Given the description of an element on the screen output the (x, y) to click on. 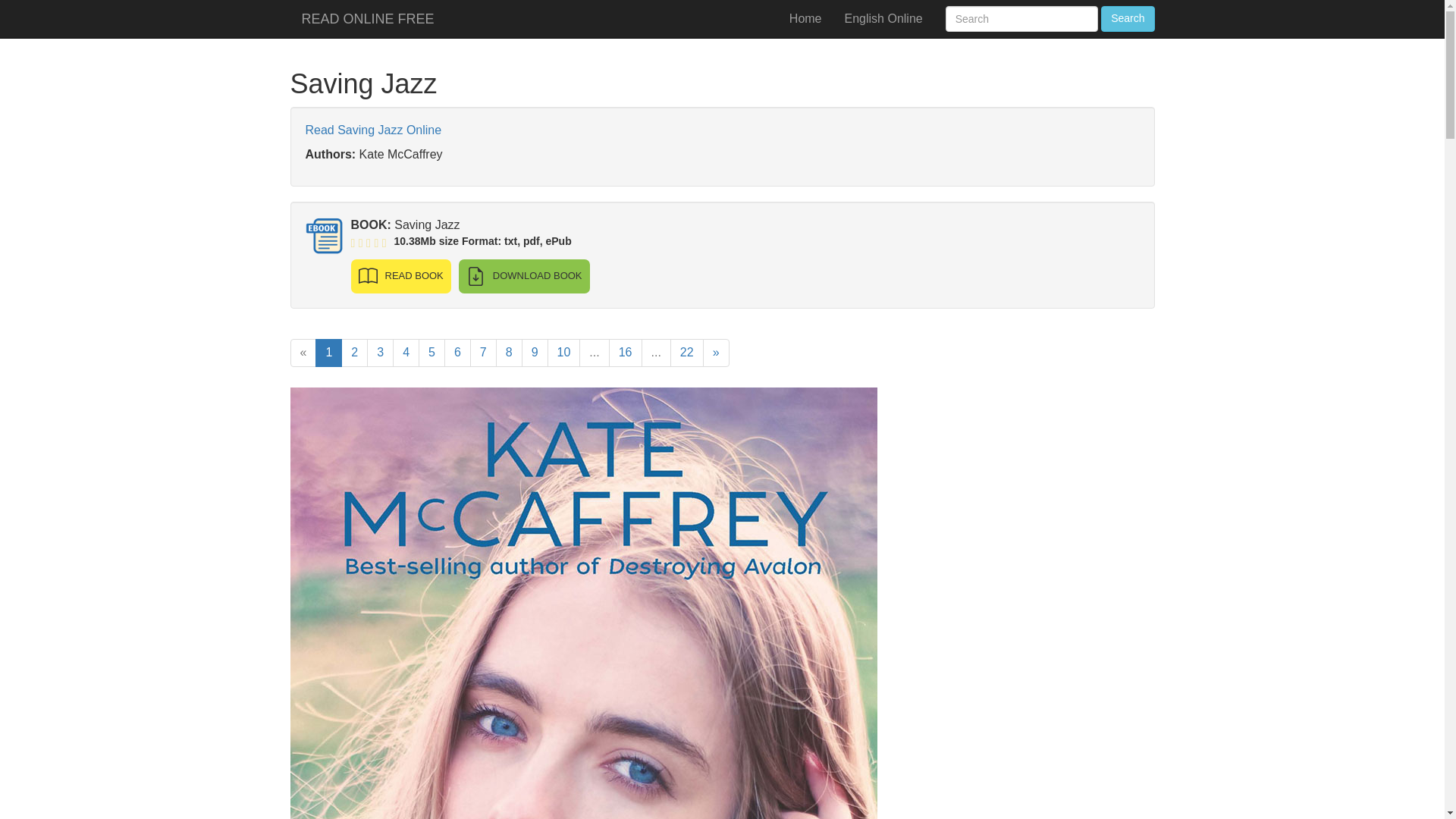
Read Saving Jazz Online (372, 129)
READ ONLINE FREE (367, 18)
1 (328, 352)
16 (625, 352)
22 (686, 352)
7 (483, 352)
English Online (883, 18)
READ BOOK (399, 276)
9 (534, 352)
5 (432, 352)
